Given the description of an element on the screen output the (x, y) to click on. 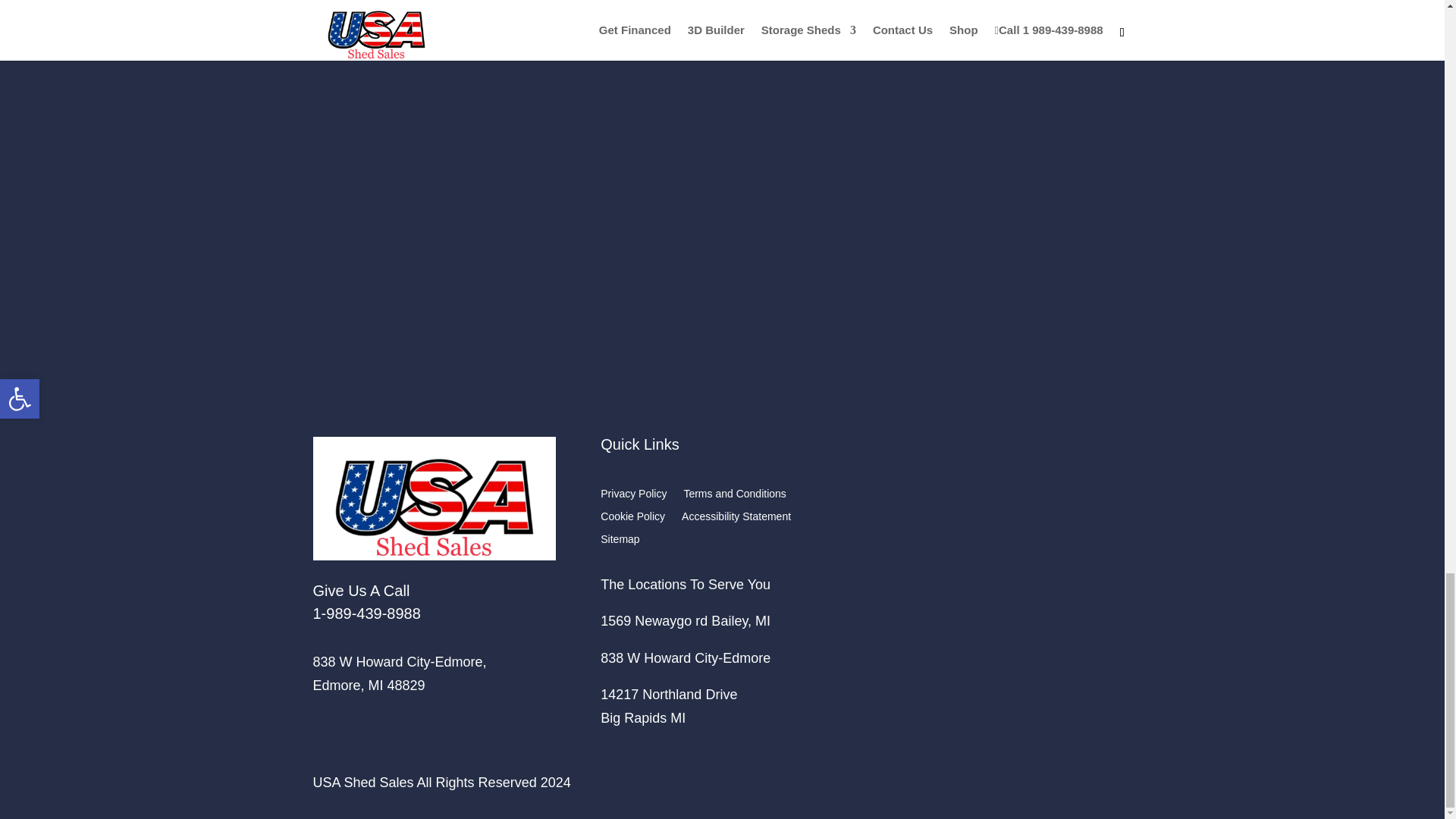
Edmore, MI 48829 (369, 685)
Cookie Policy (632, 519)
Terms and Conditions (734, 496)
838 W Howard City-Edmore (684, 657)
838 W Howard City-Edmore, (399, 661)
USA Shed Sales (433, 498)
1569 Newaygo rd Bailey, MI (684, 620)
1-989-439-8988 (366, 613)
Sitemap (619, 541)
Privacy Policy (632, 496)
